Given the description of an element on the screen output the (x, y) to click on. 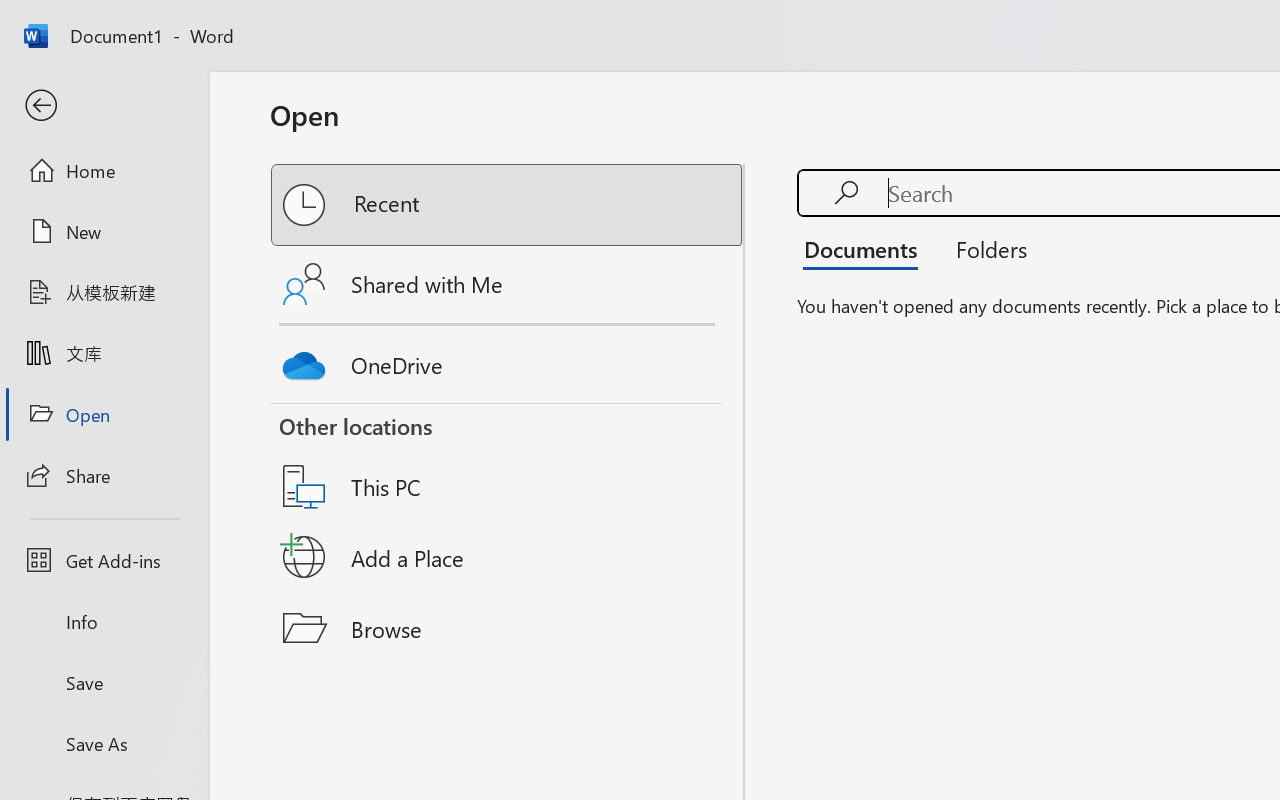
Recent (507, 205)
Back (104, 106)
Folders (984, 248)
Add a Place (507, 557)
